Given the description of an element on the screen output the (x, y) to click on. 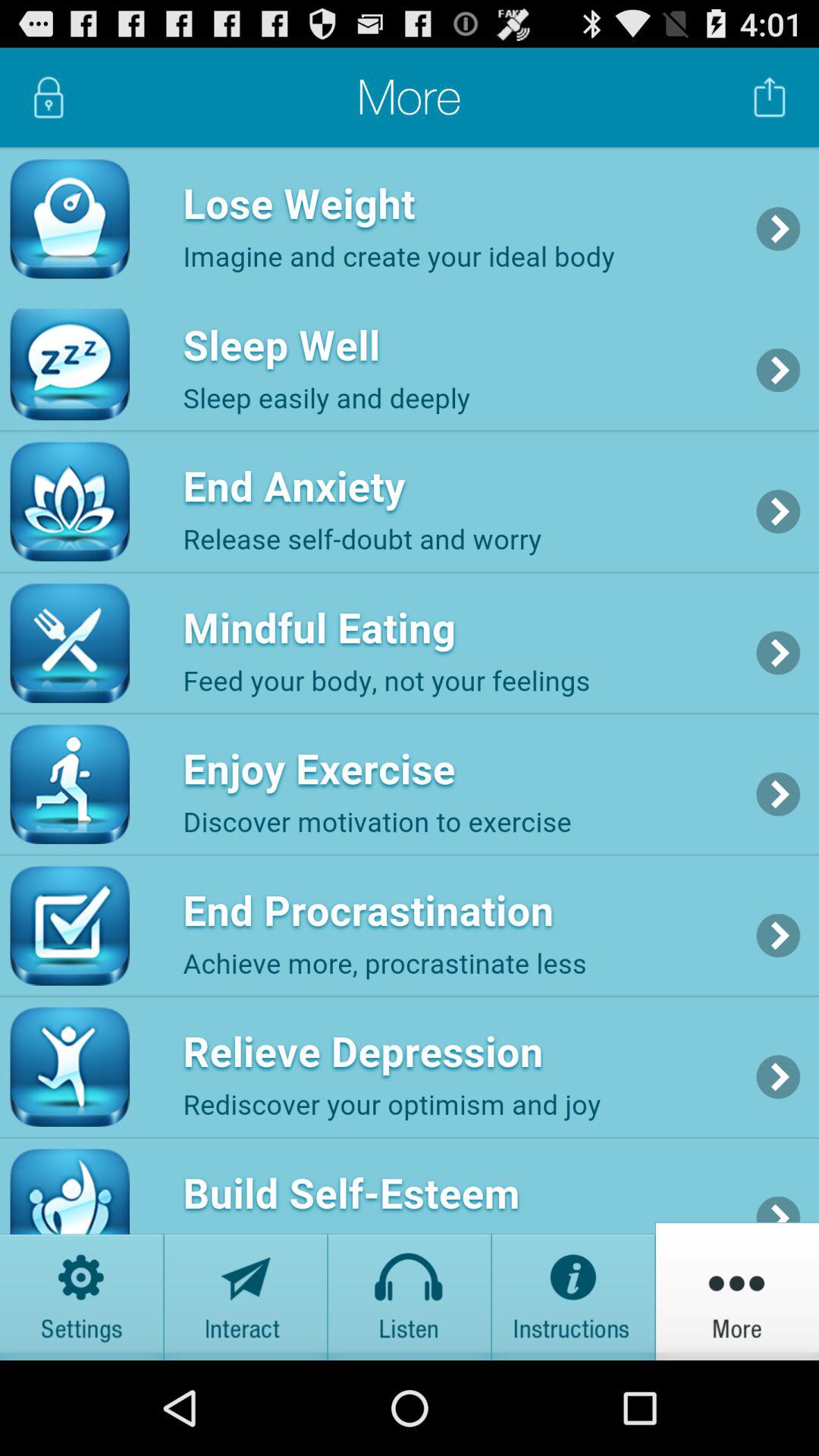
select more option (737, 1290)
